Given the description of an element on the screen output the (x, y) to click on. 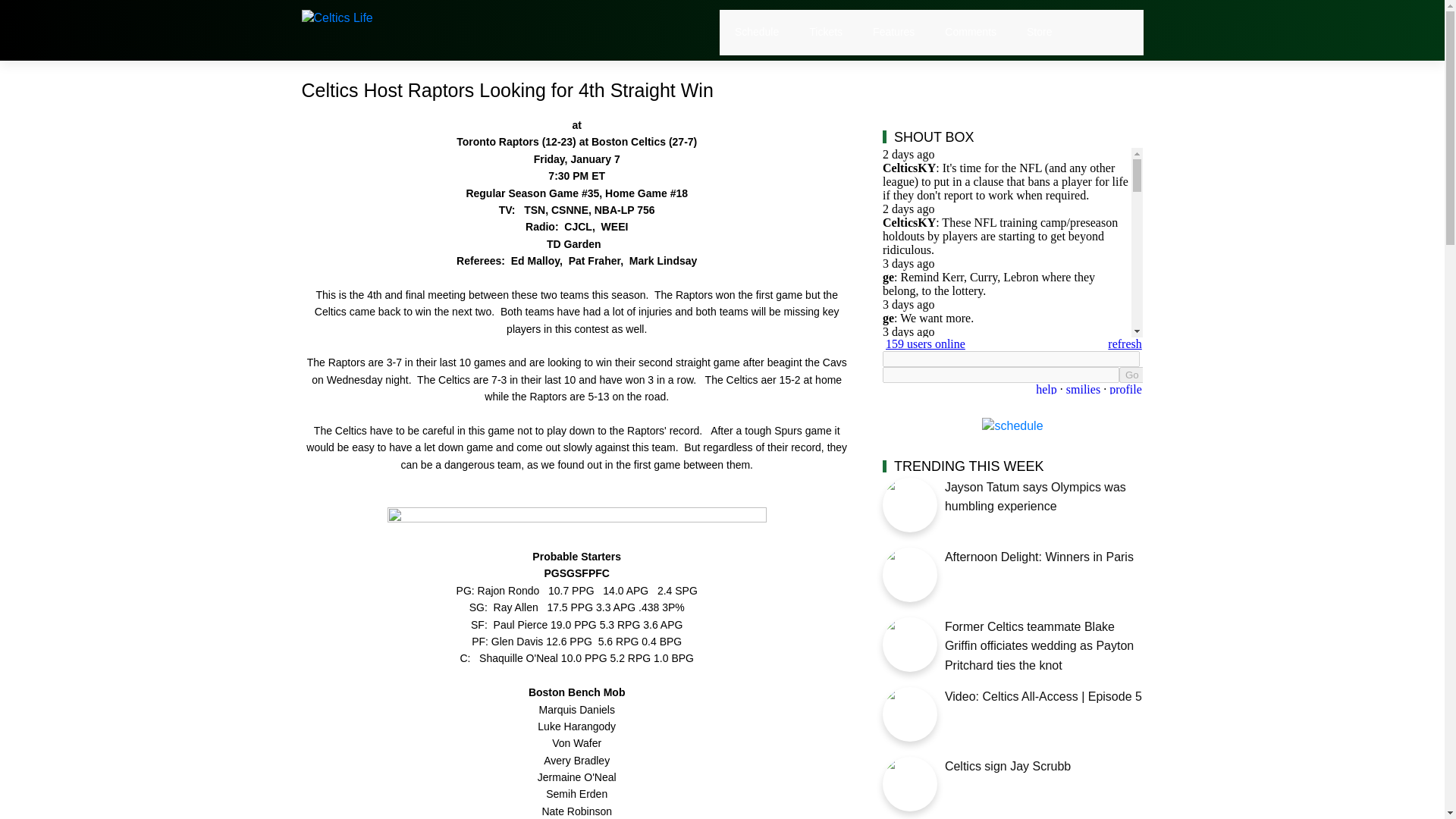
Comments (969, 32)
Schedule (756, 32)
Features (893, 32)
